Given the description of an element on the screen output the (x, y) to click on. 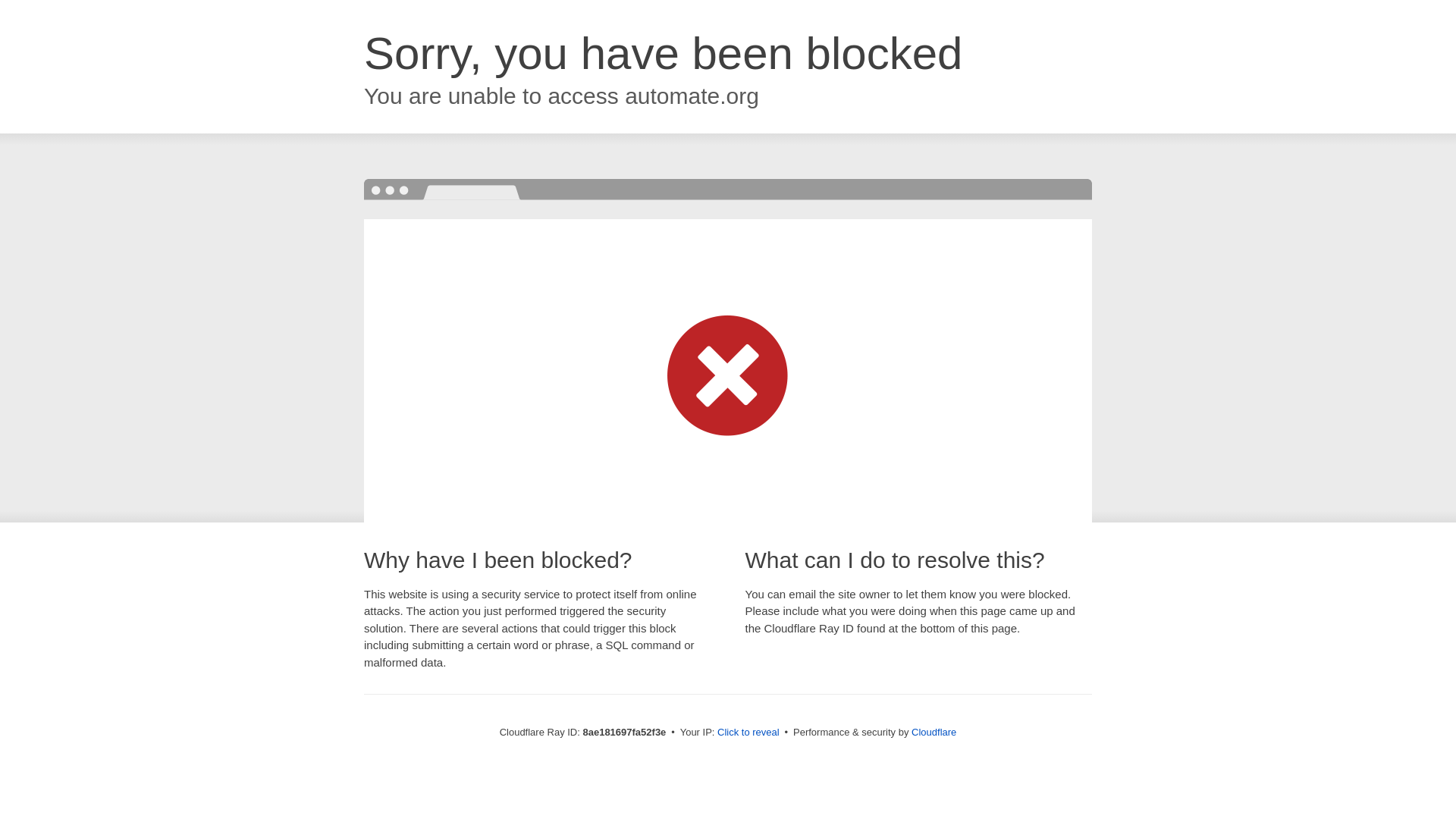
Click to reveal (747, 732)
Cloudflare (933, 731)
